Given the description of an element on the screen output the (x, y) to click on. 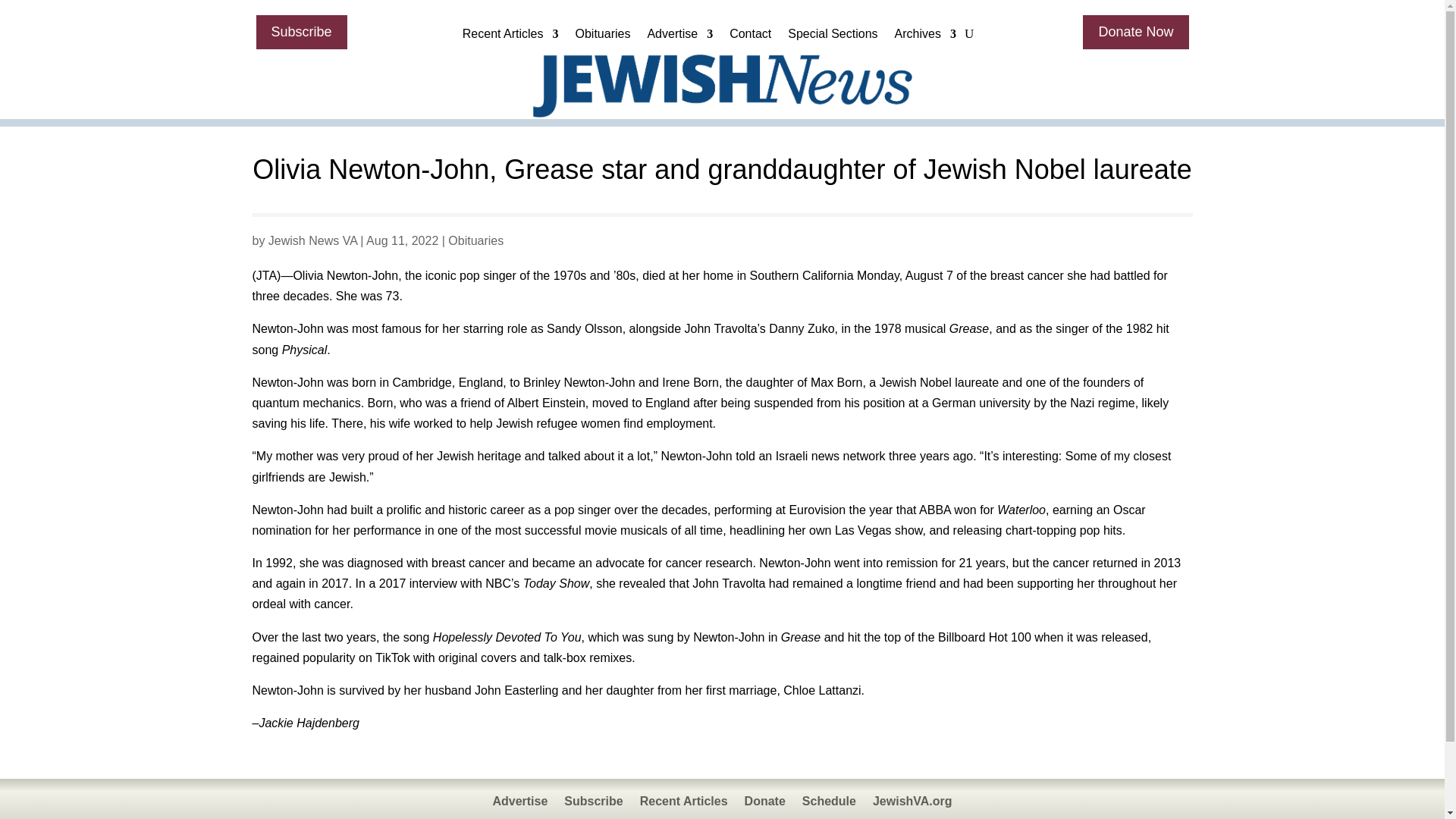
Posts by Jewish News VA (311, 240)
Subscribe (301, 32)
Advertise (679, 37)
Obituaries (602, 37)
Recent Articles (511, 37)
Archives (925, 37)
Donate Now (1135, 32)
Special Sections (832, 37)
Contact (750, 37)
